Given the description of an element on the screen output the (x, y) to click on. 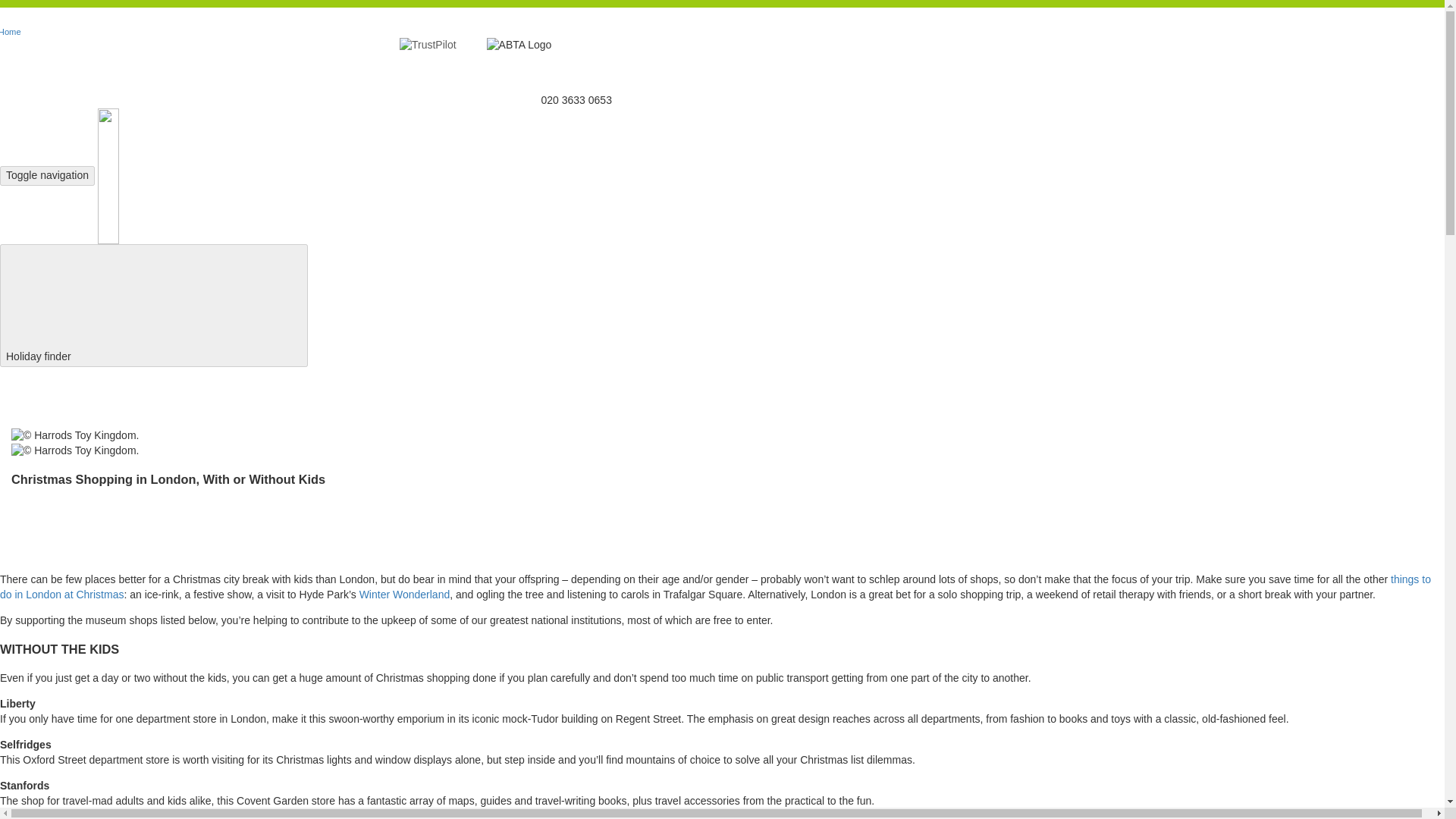
Home (14, 30)
ABTA Logo (518, 45)
Toggle navigation (47, 175)
TrustPilot (427, 45)
winter wonderland, london  (404, 594)
